Given the description of an element on the screen output the (x, y) to click on. 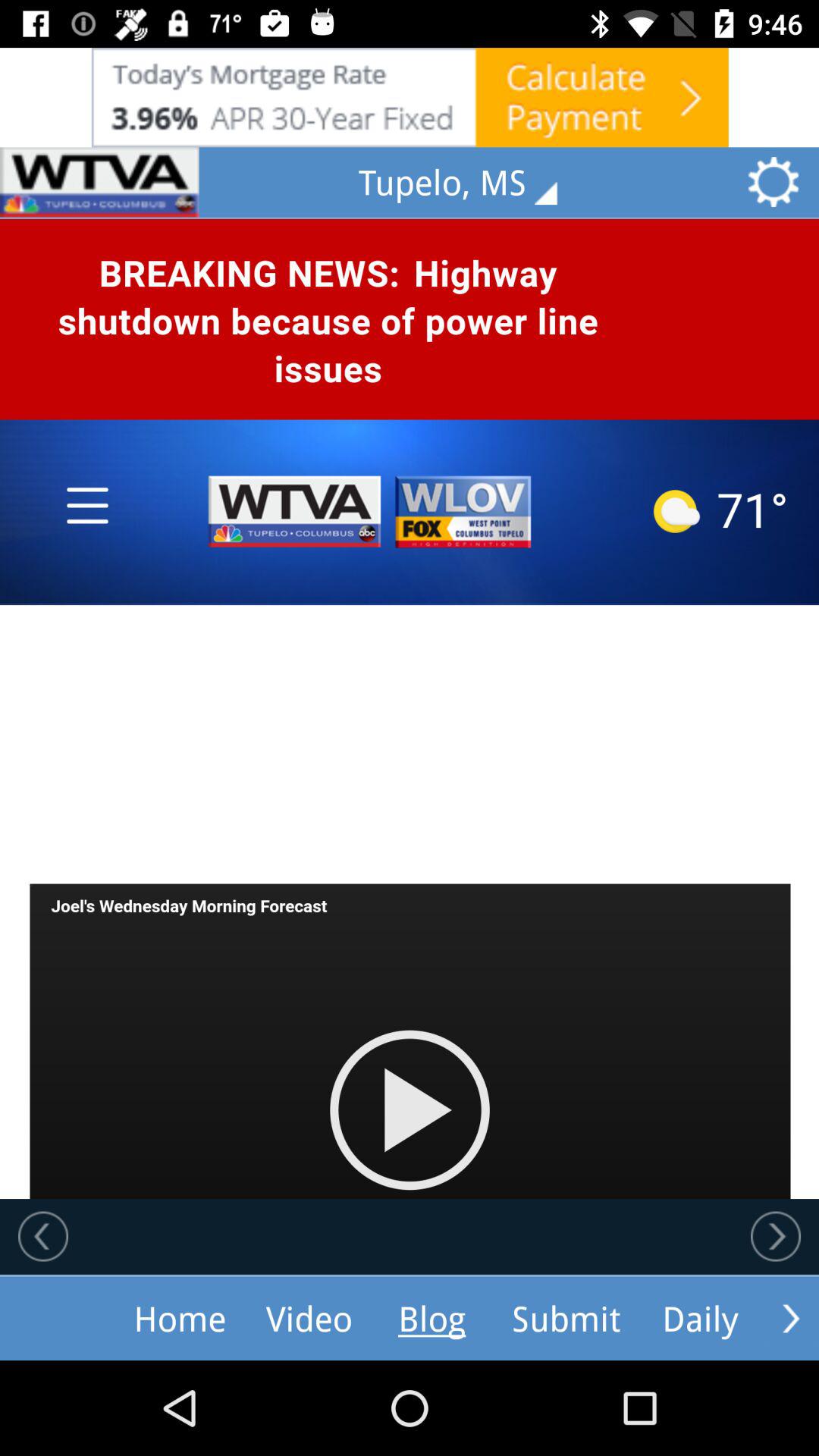
move forward (791, 1318)
